Given the description of an element on the screen output the (x, y) to click on. 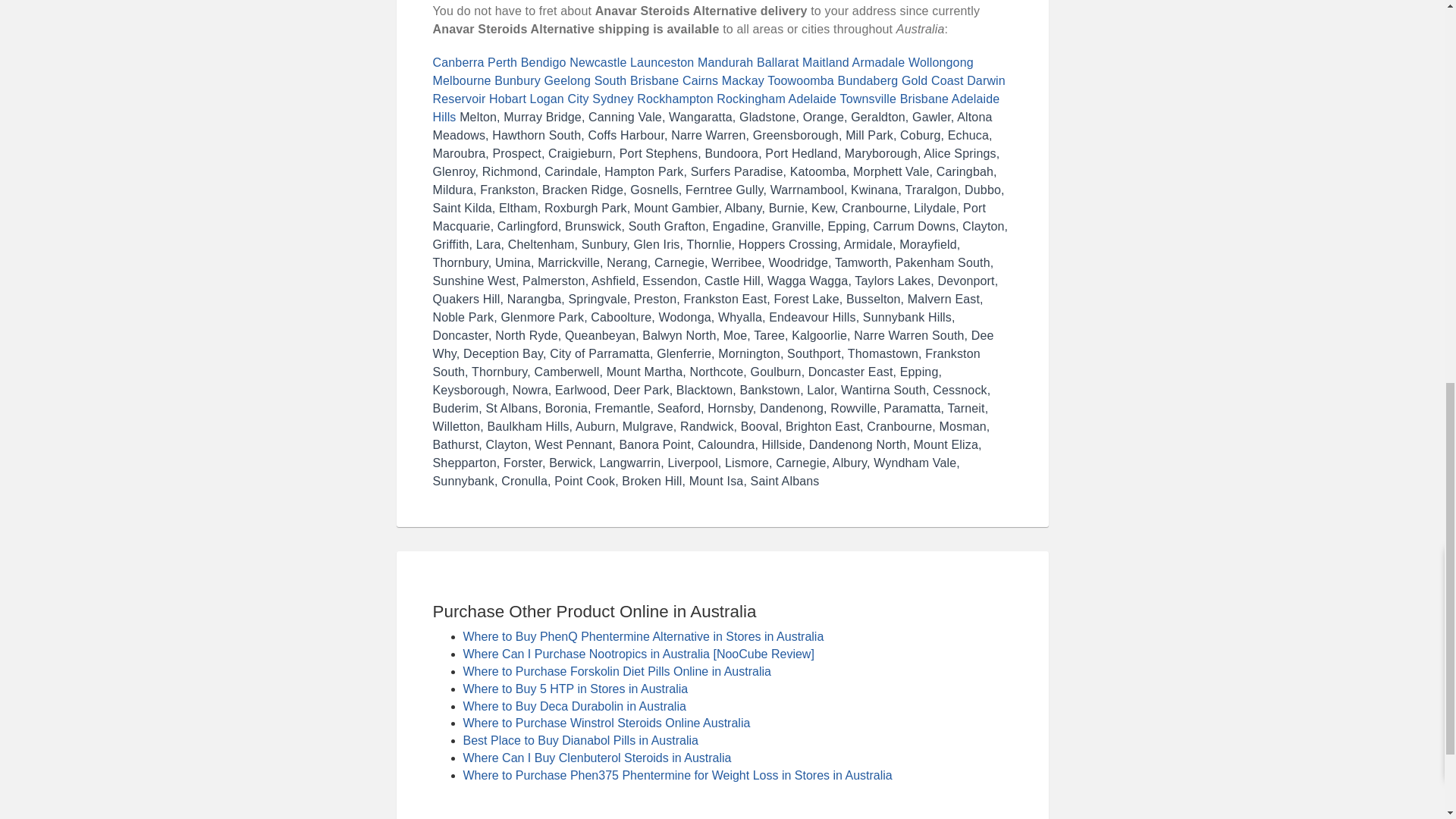
Geelong (567, 80)
Where to Buy Anavar Steroids Alternative Online in Newcastle (597, 62)
Where to Purchase Forskolin Diet Pills Online in Australia (616, 671)
Where to Buy Anavar Steroids Alternative Online in Maitland (825, 62)
Maitland (825, 62)
Hobart (507, 98)
Melbourne (461, 80)
Where to Buy Anavar Steroids Alternative Online in Canberra (457, 62)
Newcastle (597, 62)
Rockhampton (675, 98)
Reservoir (458, 98)
Bunbury (517, 80)
Mandurah (724, 62)
